Given the description of an element on the screen output the (x, y) to click on. 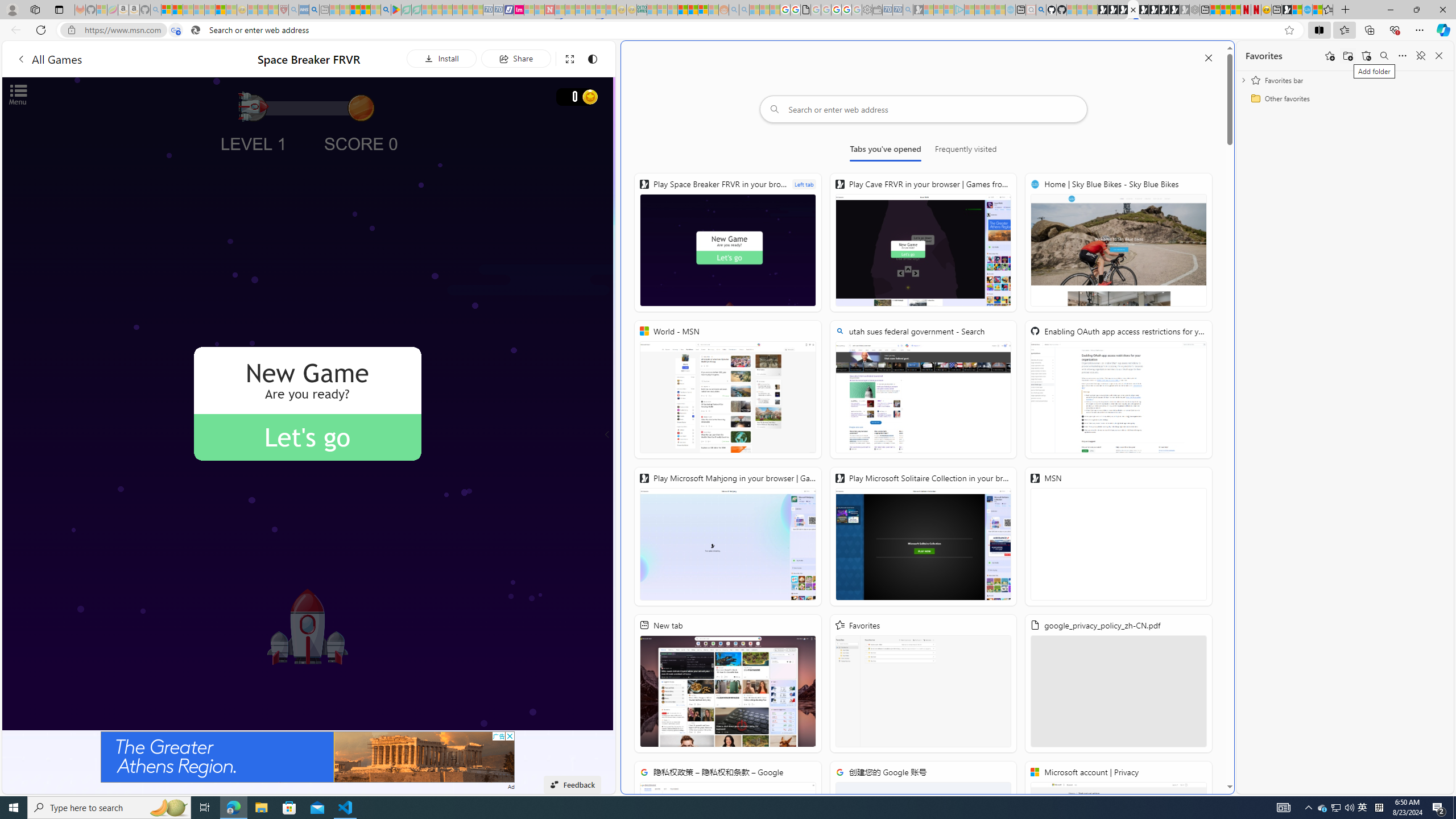
Full screen (569, 58)
AutomationID: gameCanvas (307, 403)
